Given the description of an element on the screen output the (x, y) to click on. 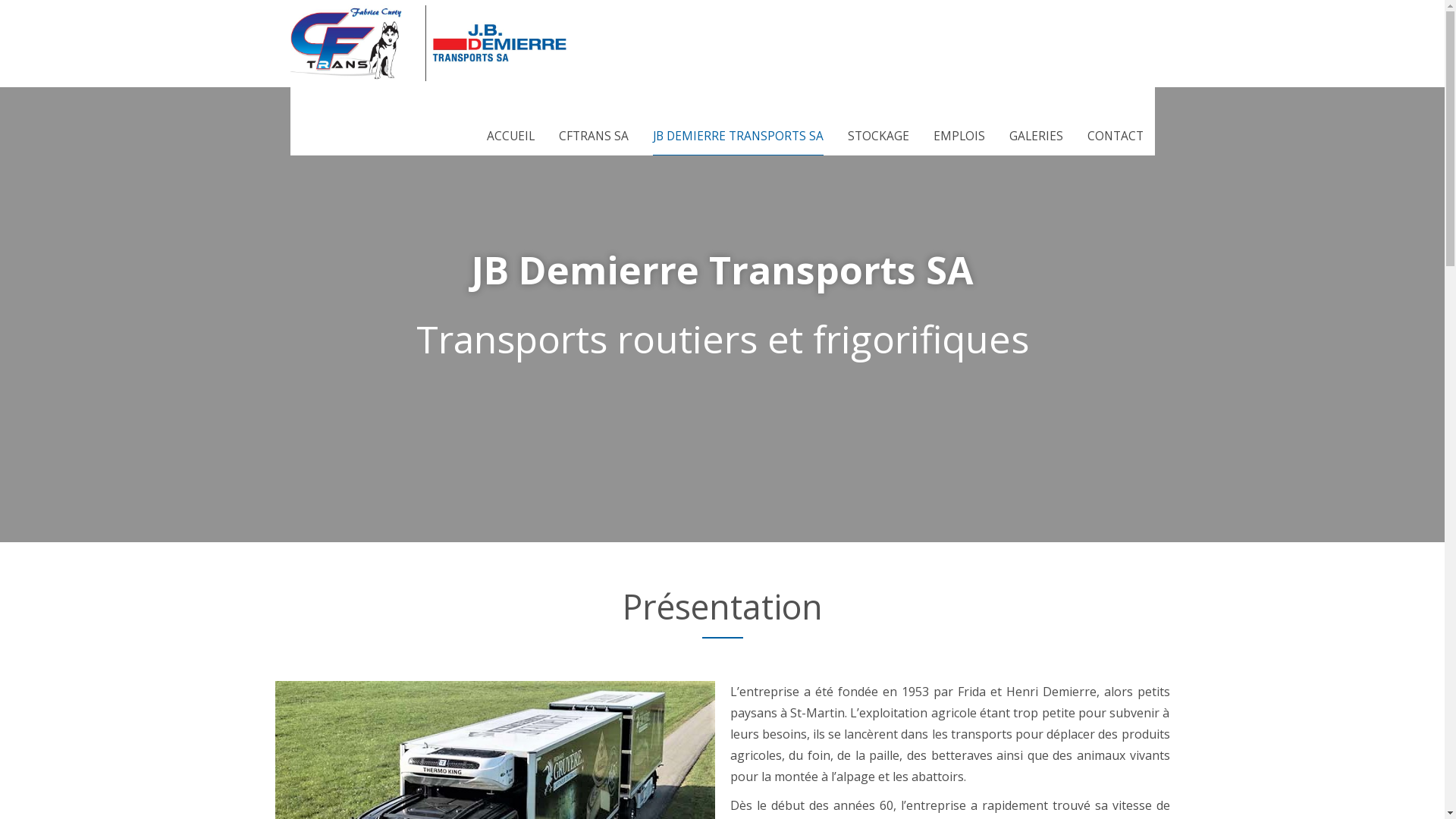
EMPLOIS Element type: text (958, 135)
STOCKAGE Element type: text (878, 135)
JB DEMIERRE TRANSPORTS SA Element type: text (737, 135)
CFTRANS SA Element type: text (592, 135)
GALERIES Element type: text (1035, 135)
CONTACT Element type: text (1115, 135)
ACCUEIL Element type: text (510, 135)
